Given the description of an element on the screen output the (x, y) to click on. 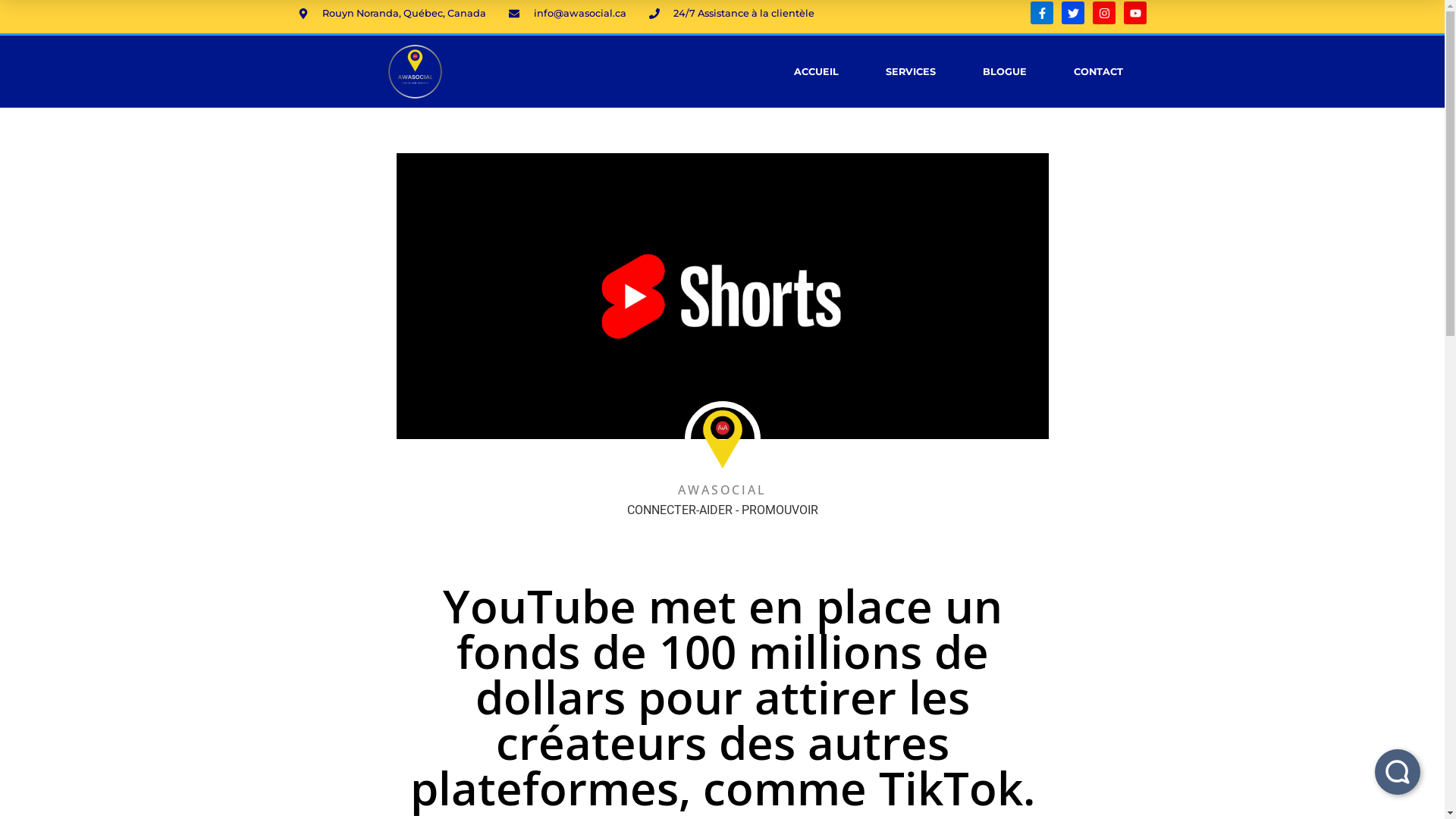
awableu Element type: hover (414, 71)
ACCUEIL Element type: text (816, 71)
YouTube-Shorts-logo Element type: hover (721, 296)
BLOGUE Element type: text (1004, 71)
SERVICES Element type: text (910, 71)
CONTACT Element type: text (1098, 71)
